Given the description of an element on the screen output the (x, y) to click on. 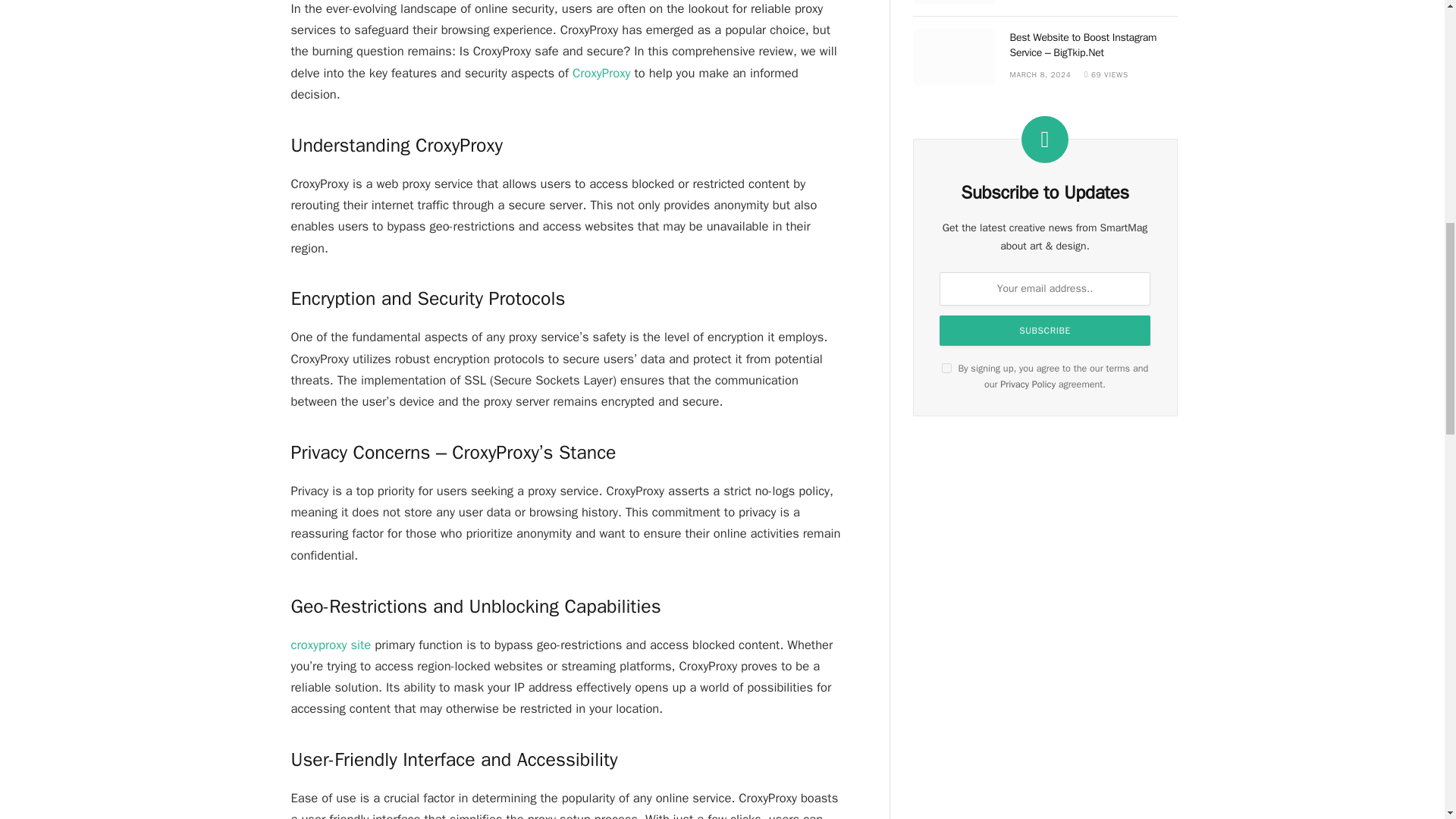
on (947, 368)
Subscribe (1044, 330)
